Given the description of an element on the screen output the (x, y) to click on. 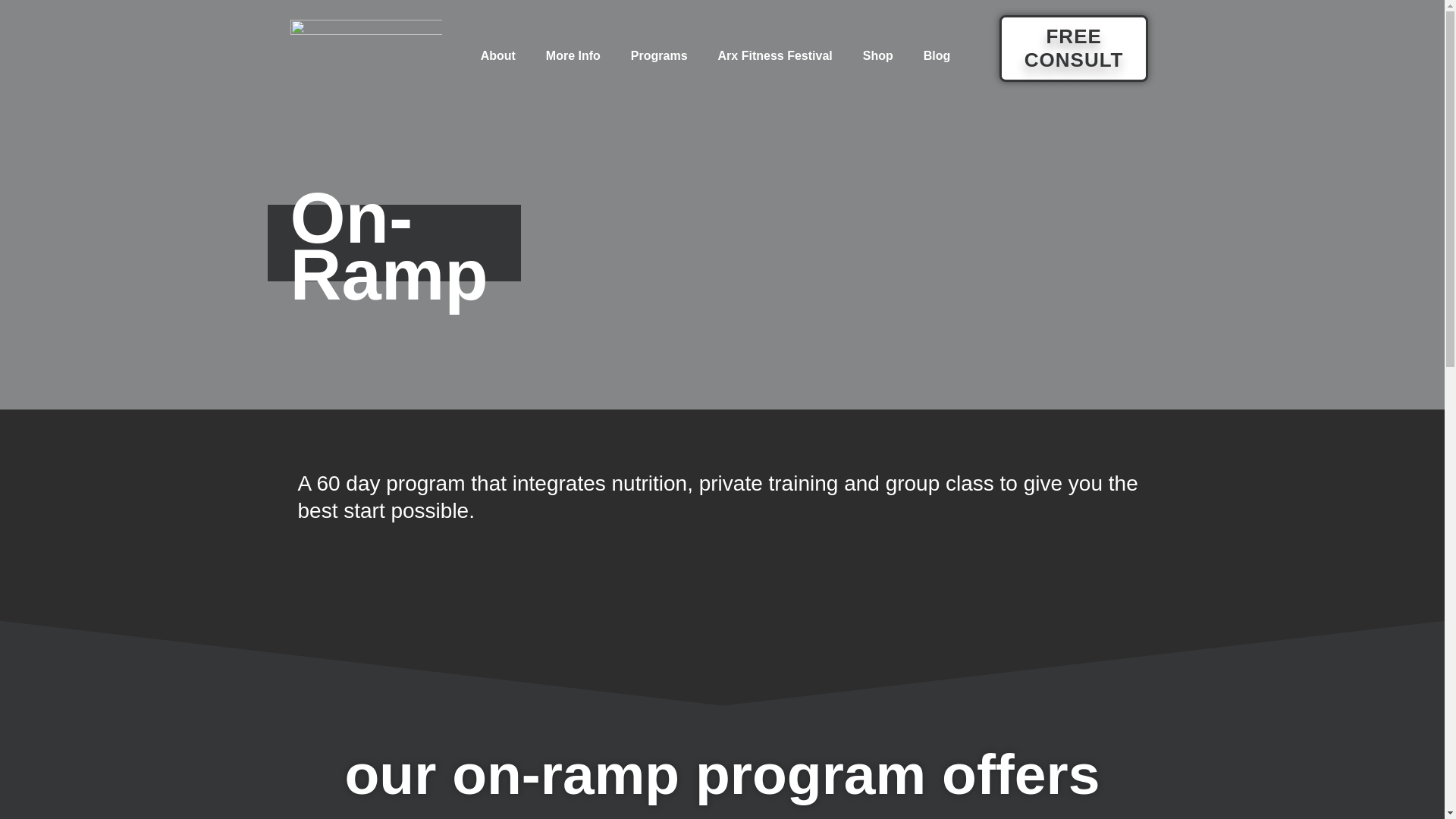
Arx Fitness Festival (775, 55)
Shop (877, 55)
Blog (937, 55)
FREE CONSULT (1073, 48)
About (498, 55)
Programs (659, 55)
More Info (573, 55)
